Given the description of an element on the screen output the (x, y) to click on. 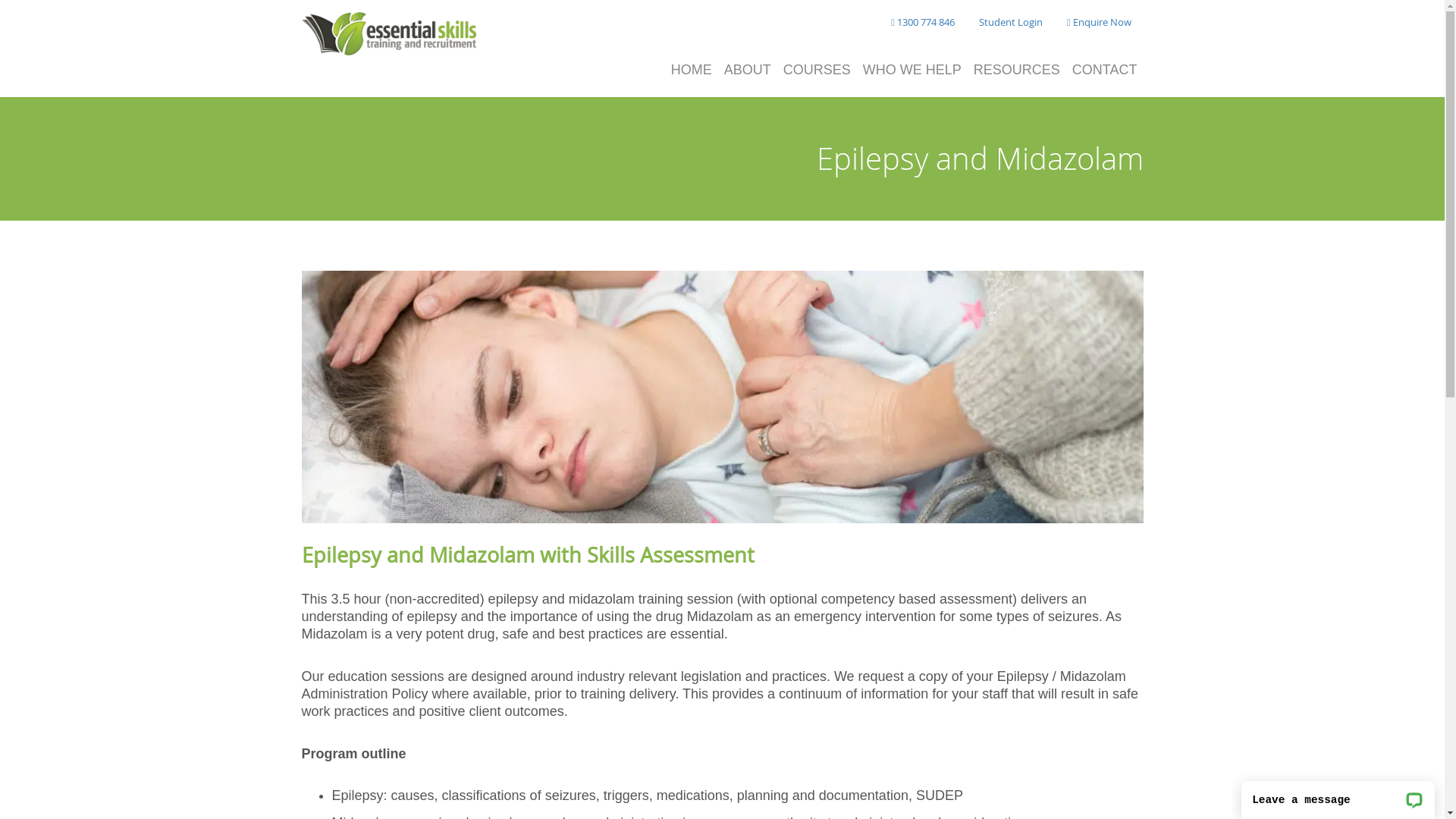
Student Login Element type: text (1010, 21)
Enquire Now Element type: text (1098, 21)
RESOURCES Element type: text (1016, 70)
COURSES Element type: text (816, 70)
1300 774 846 Element type: text (922, 21)
CONTACT Element type: text (1104, 70)
HOME Element type: text (691, 70)
WHO WE HELP Element type: text (911, 70)
ABOUT Element type: text (747, 70)
